Given the description of an element on the screen output the (x, y) to click on. 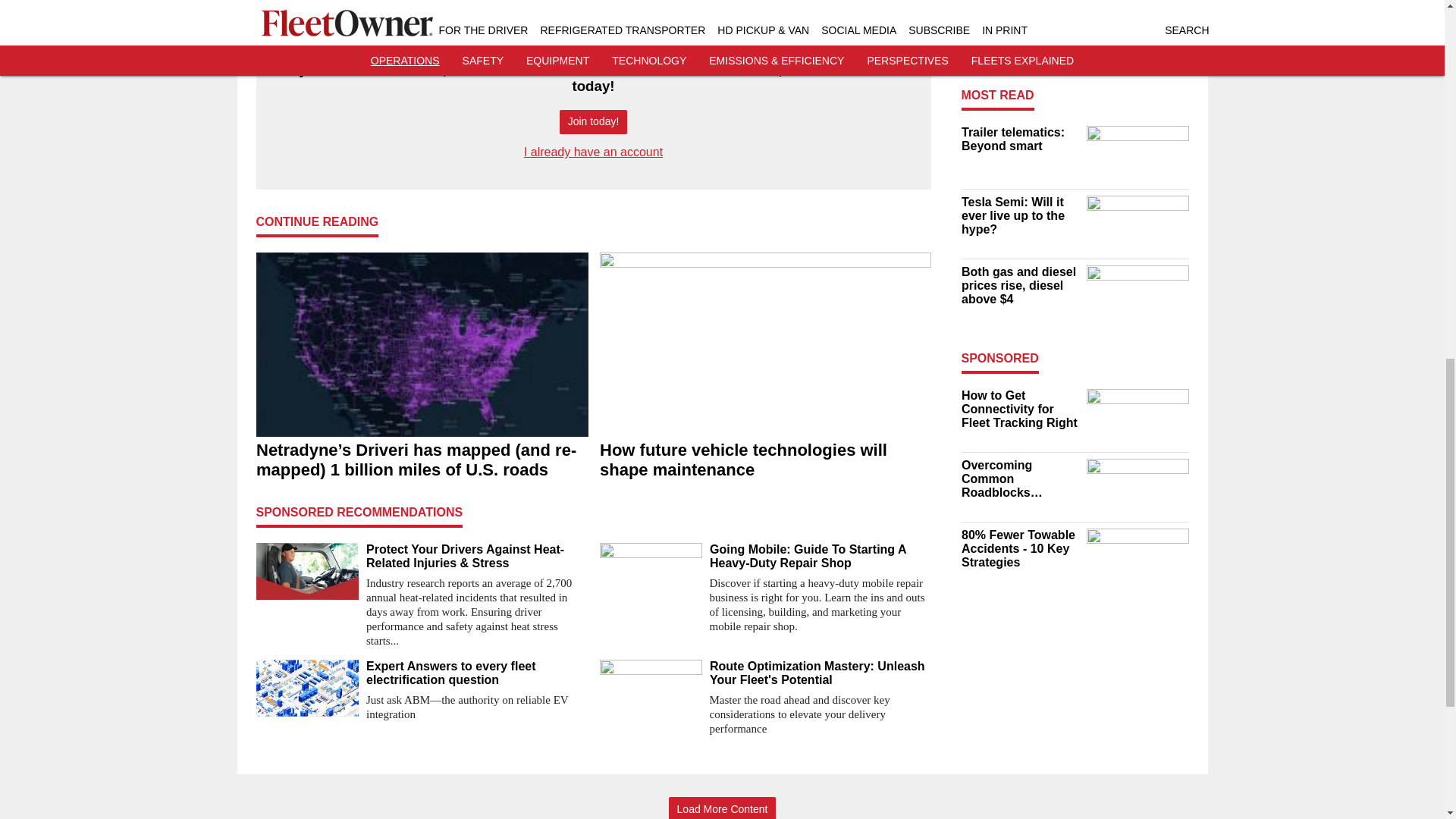
Expert Answers to every fleet electrification question (476, 673)
Join today! (593, 122)
Route Optimization Mastery: Unleash Your Fleet's Potential (820, 673)
How future vehicle technologies will shape maintenance (764, 459)
I already have an account (593, 151)
Going Mobile: Guide To Starting A Heavy-Duty Repair Shop (820, 556)
